Given the description of an element on the screen output the (x, y) to click on. 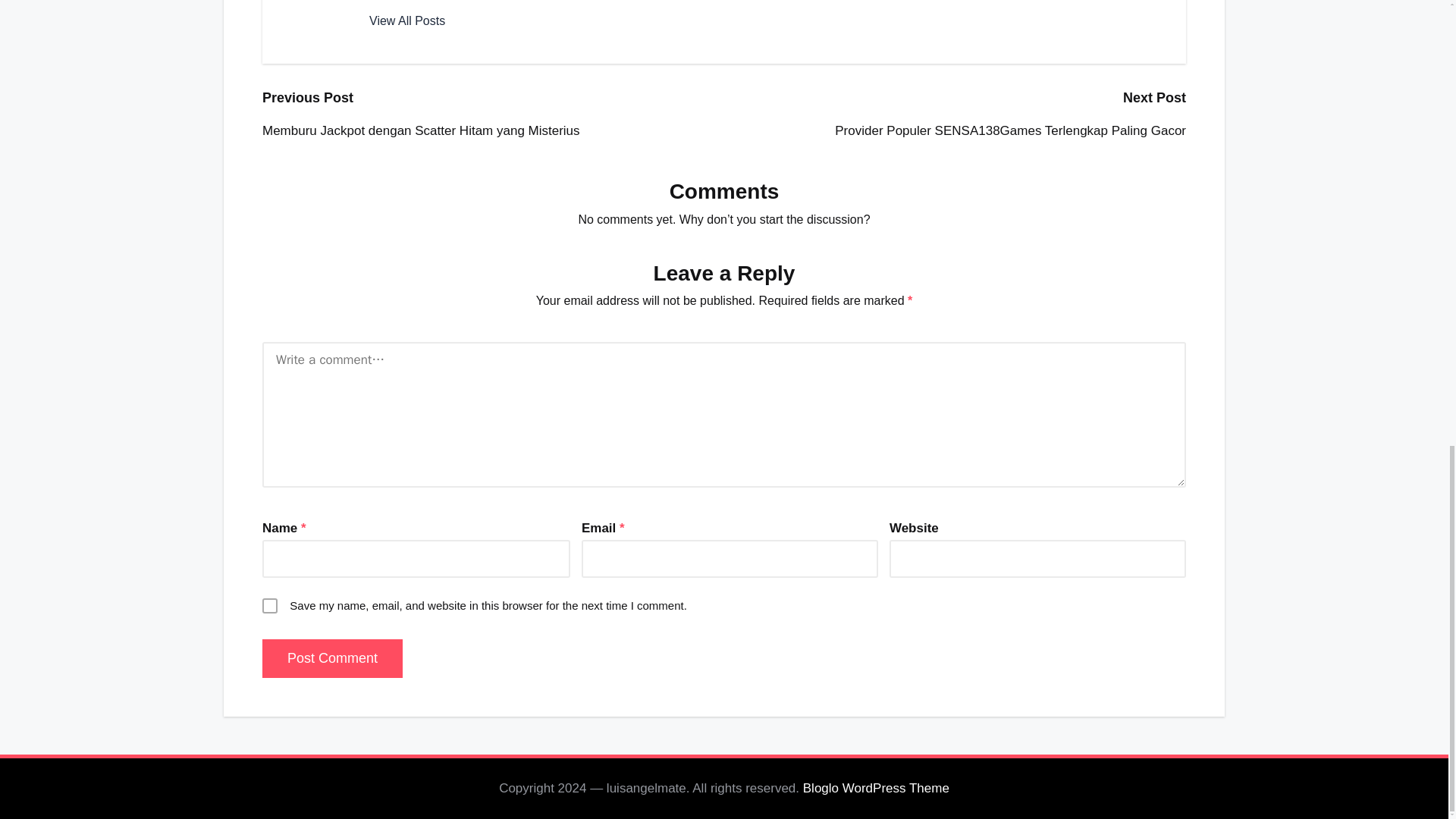
yes (270, 605)
Memburu Jackpot dengan Scatter Hitam yang Misterius (492, 130)
Provider Populer SENSA138Games Terlengkap Paling Gacor (954, 130)
Post Comment (332, 658)
View All Posts (407, 21)
Post Comment (332, 658)
